Given the description of an element on the screen output the (x, y) to click on. 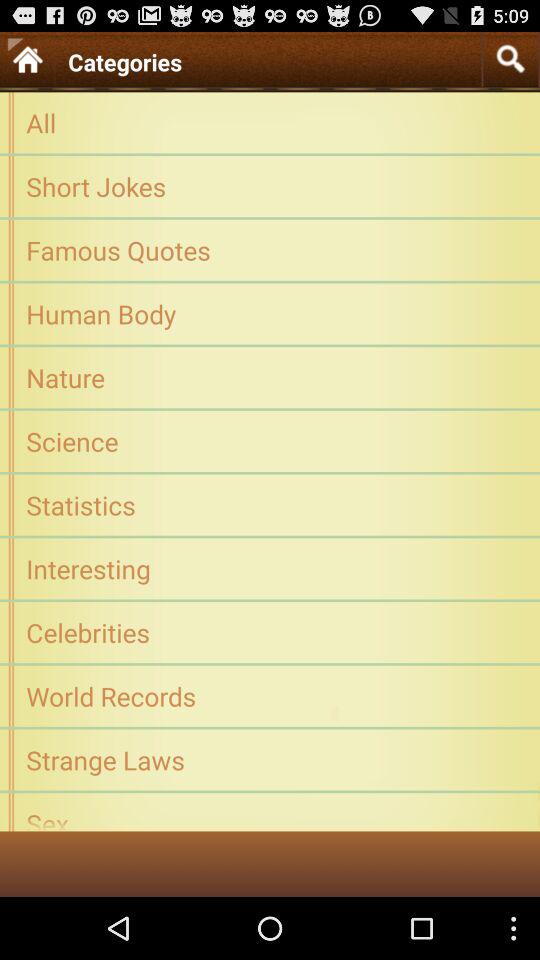
open icon below celebrities item (270, 695)
